Given the description of an element on the screen output the (x, y) to click on. 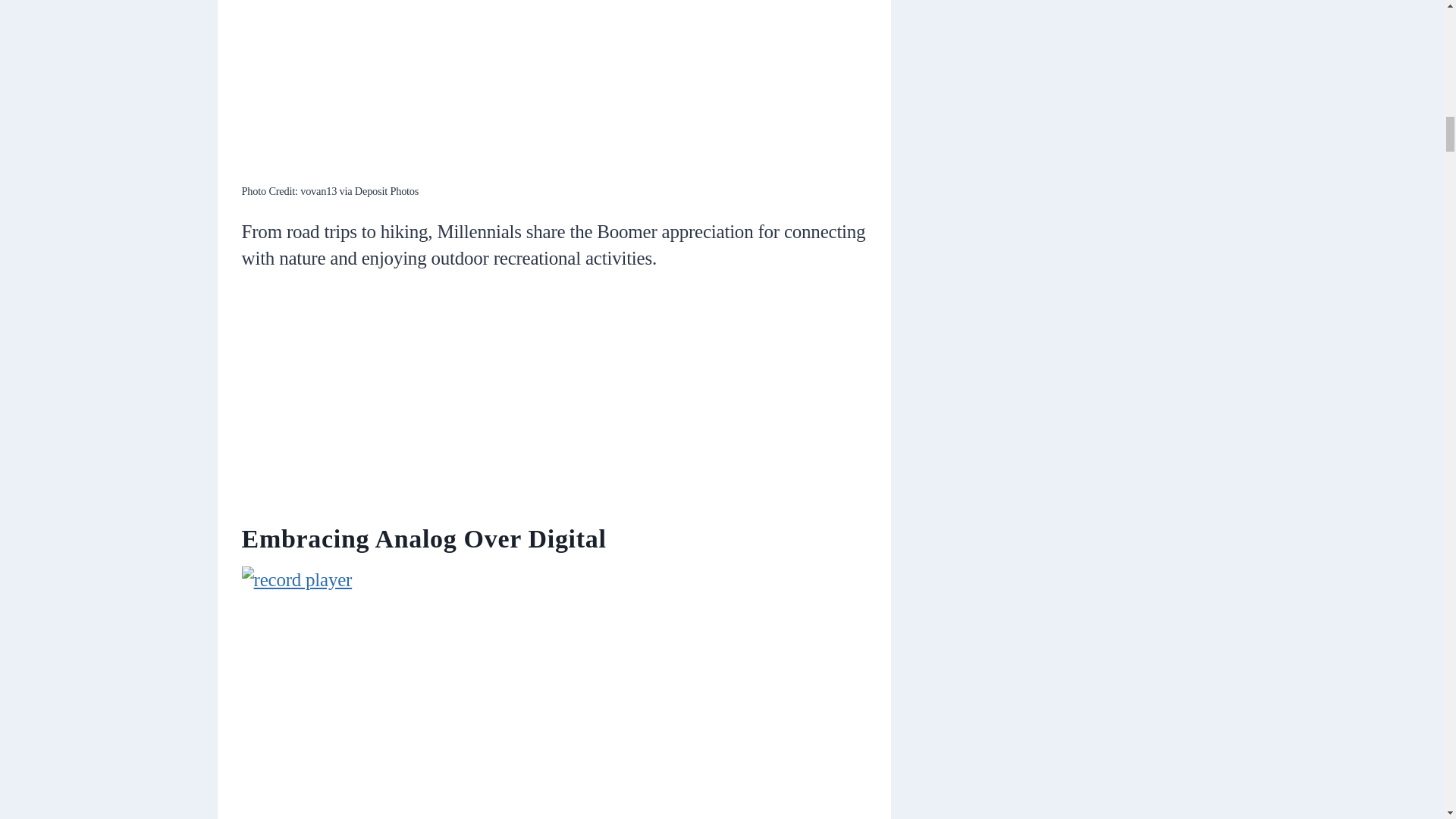
18 Reasons Why Millennials Just Might Be the New Boomers 3 (554, 89)
